Given the description of an element on the screen output the (x, y) to click on. 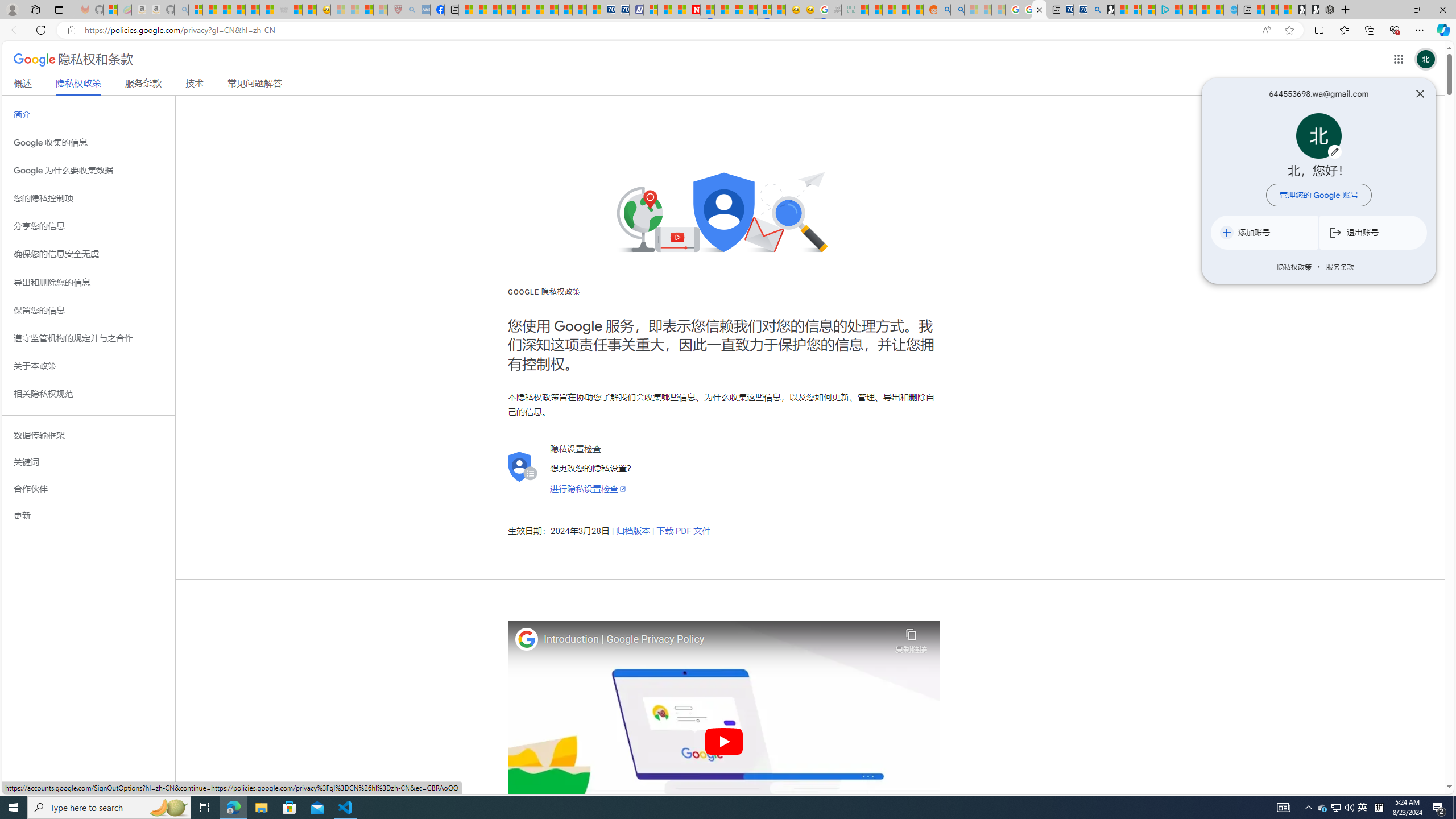
Bing Real Estate - Home sales and rental listings (1093, 9)
